Given the description of an element on the screen output the (x, y) to click on. 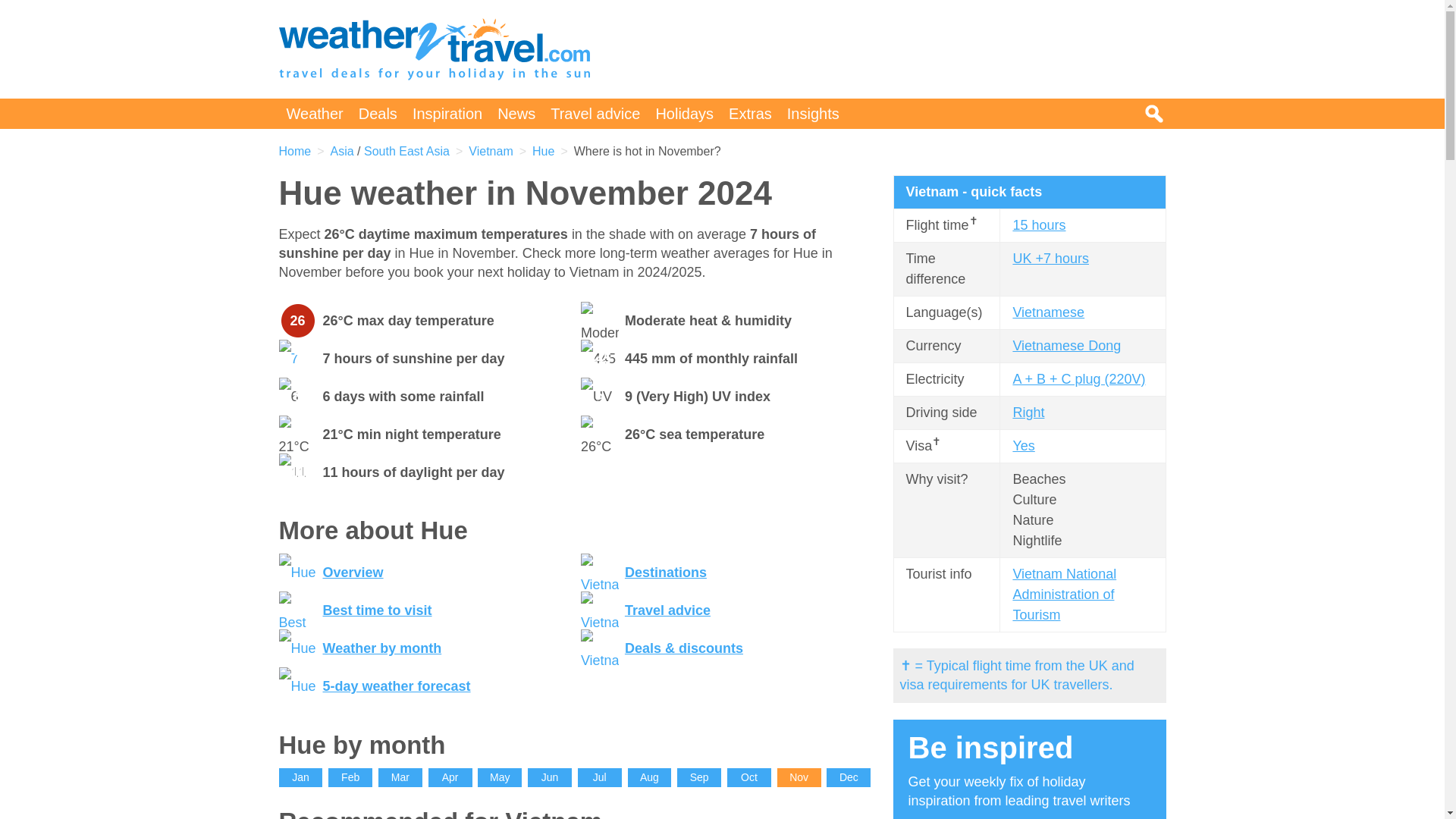
5-day weather forecast (396, 685)
Home (295, 151)
Mar (400, 777)
Holidays (683, 113)
Best time to visit (377, 610)
Weather by month (382, 648)
Travel advice (667, 610)
South East Asia (406, 151)
Feb (350, 777)
Oct (748, 777)
